Given the description of an element on the screen output the (x, y) to click on. 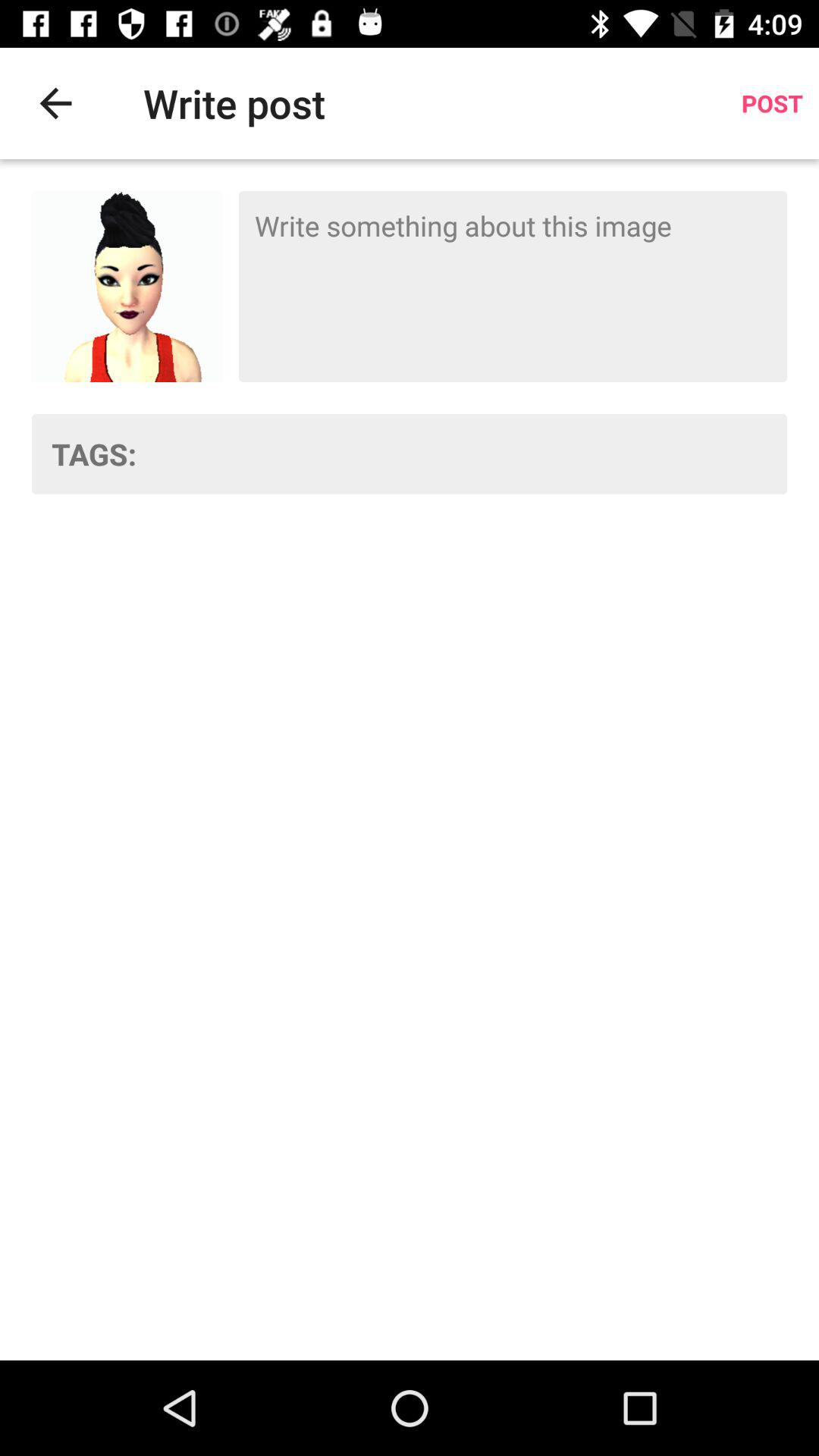
turn off item next to write post item (55, 103)
